Given the description of an element on the screen output the (x, y) to click on. 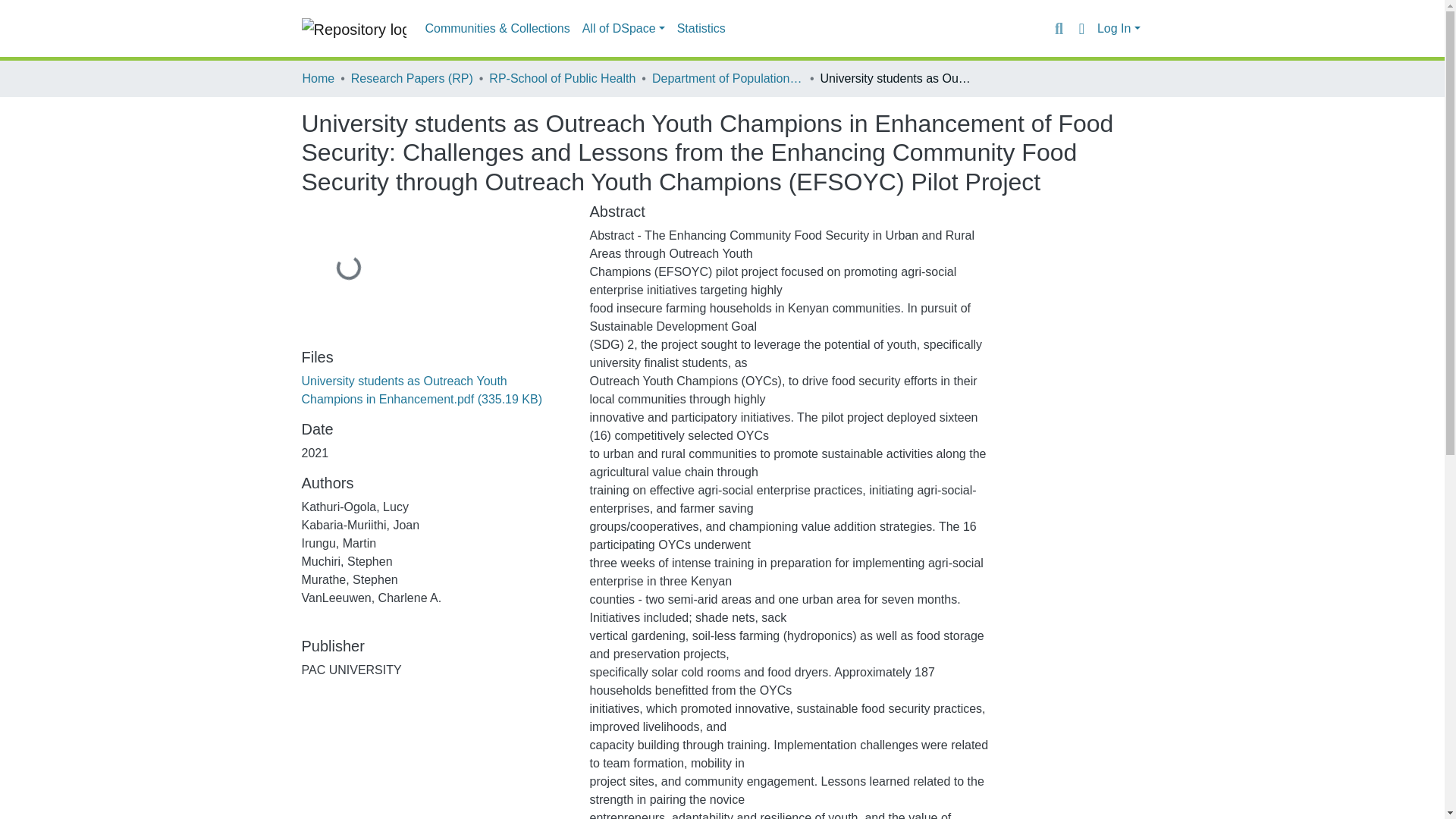
Statistics (701, 28)
Language switch (1081, 28)
Log In (1118, 28)
Department of Population and Reproductive Health (727, 78)
Home (317, 78)
RP-School of Public Health (561, 78)
All of DSpace (623, 28)
Statistics (701, 28)
Search (1058, 28)
